Given the description of an element on the screen output the (x, y) to click on. 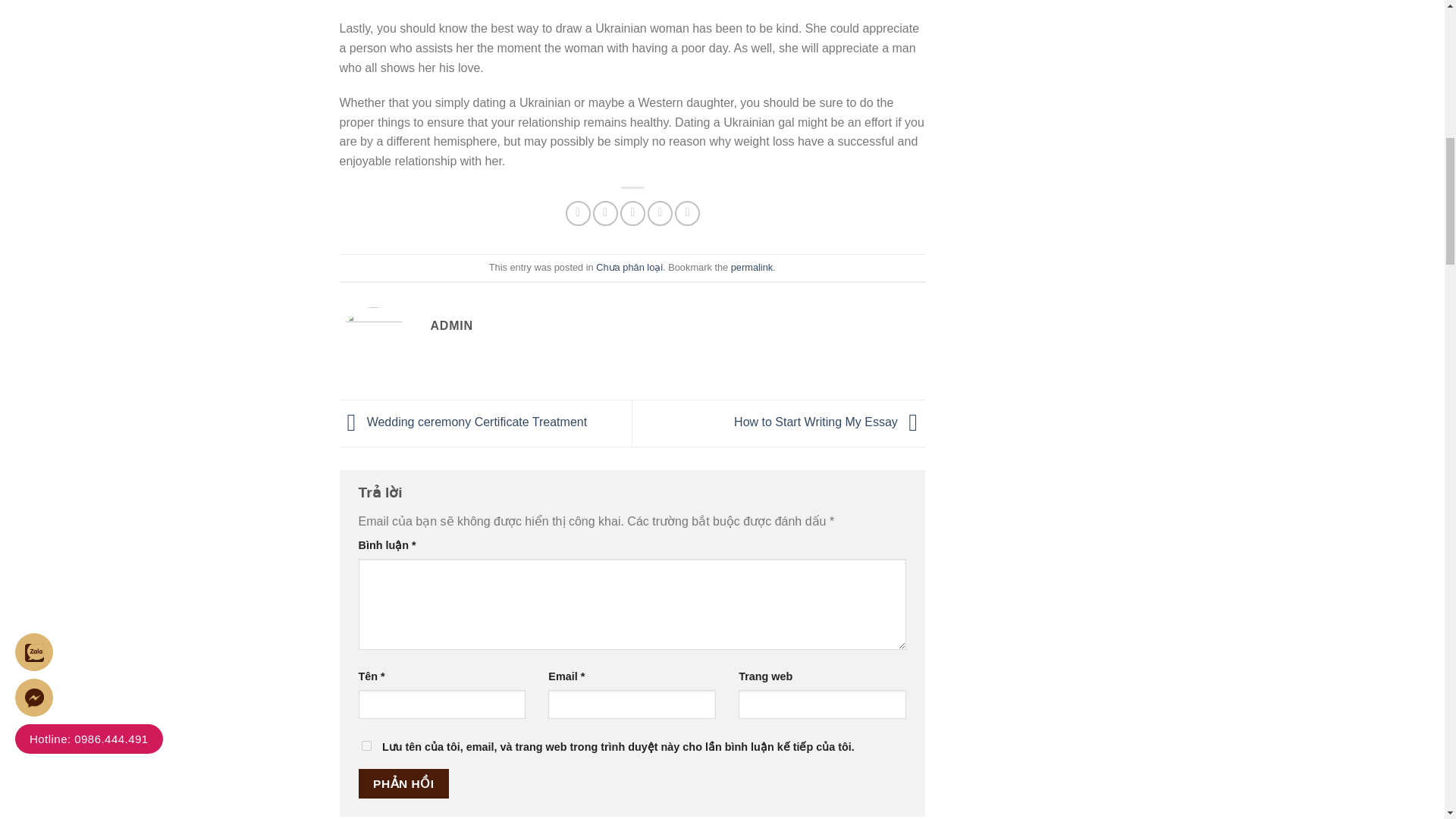
permalink (751, 266)
yes (366, 746)
How to Start Writing My Essay (828, 421)
Permalink to Methods to Go About Dating a Ukrainian Girl (751, 266)
Wedding ceremony Certificate Treatment (463, 421)
